Given the description of an element on the screen output the (x, y) to click on. 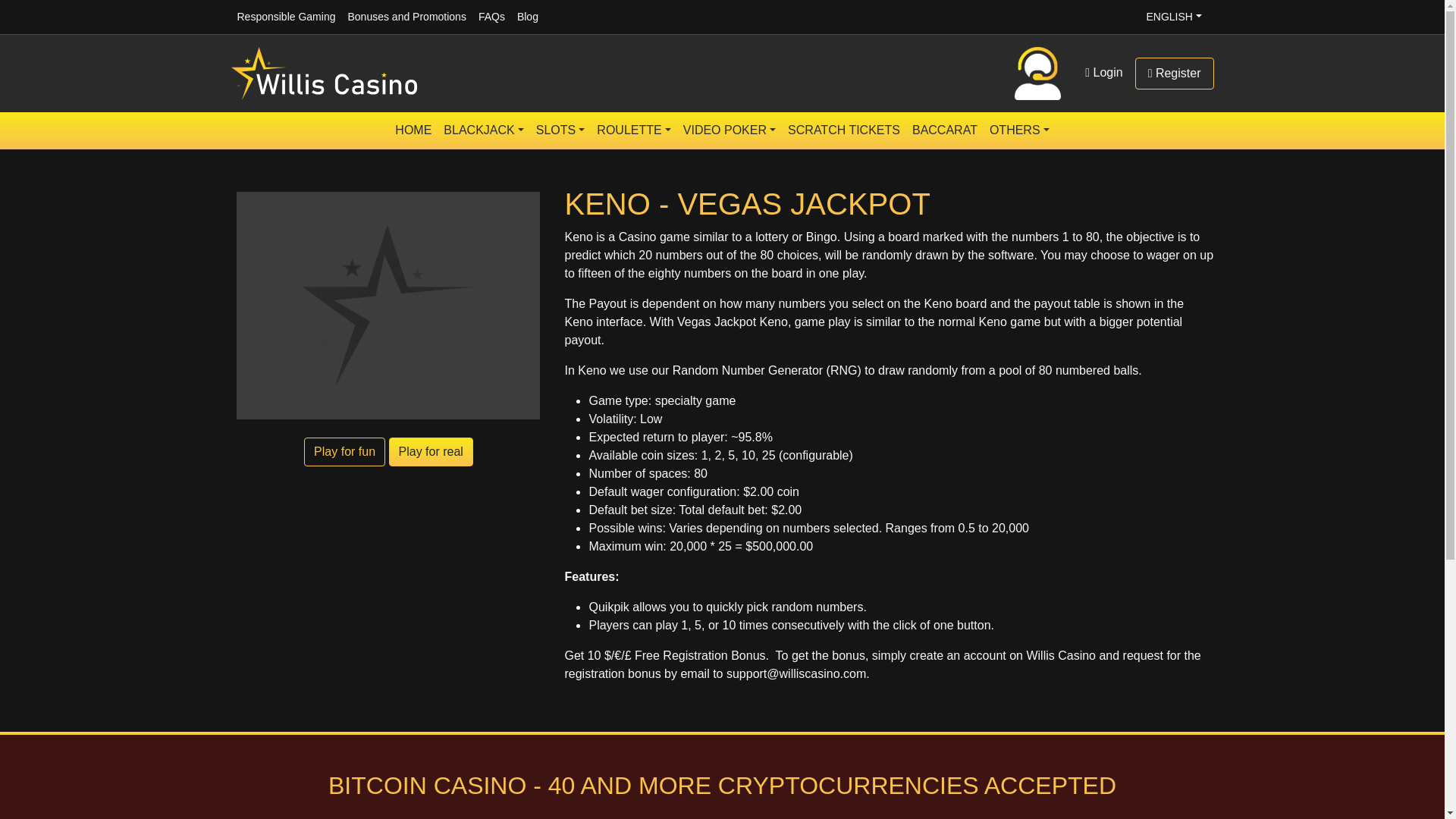
ENGLISH (1173, 17)
Blog (527, 17)
Login (1103, 72)
HOME (413, 130)
Responsible Gaming (285, 17)
SLOTS (560, 130)
ROULETTE (634, 130)
FAQs (491, 17)
Register (1174, 73)
Bonuses and Promotions (405, 17)
